Given the description of an element on the screen output the (x, y) to click on. 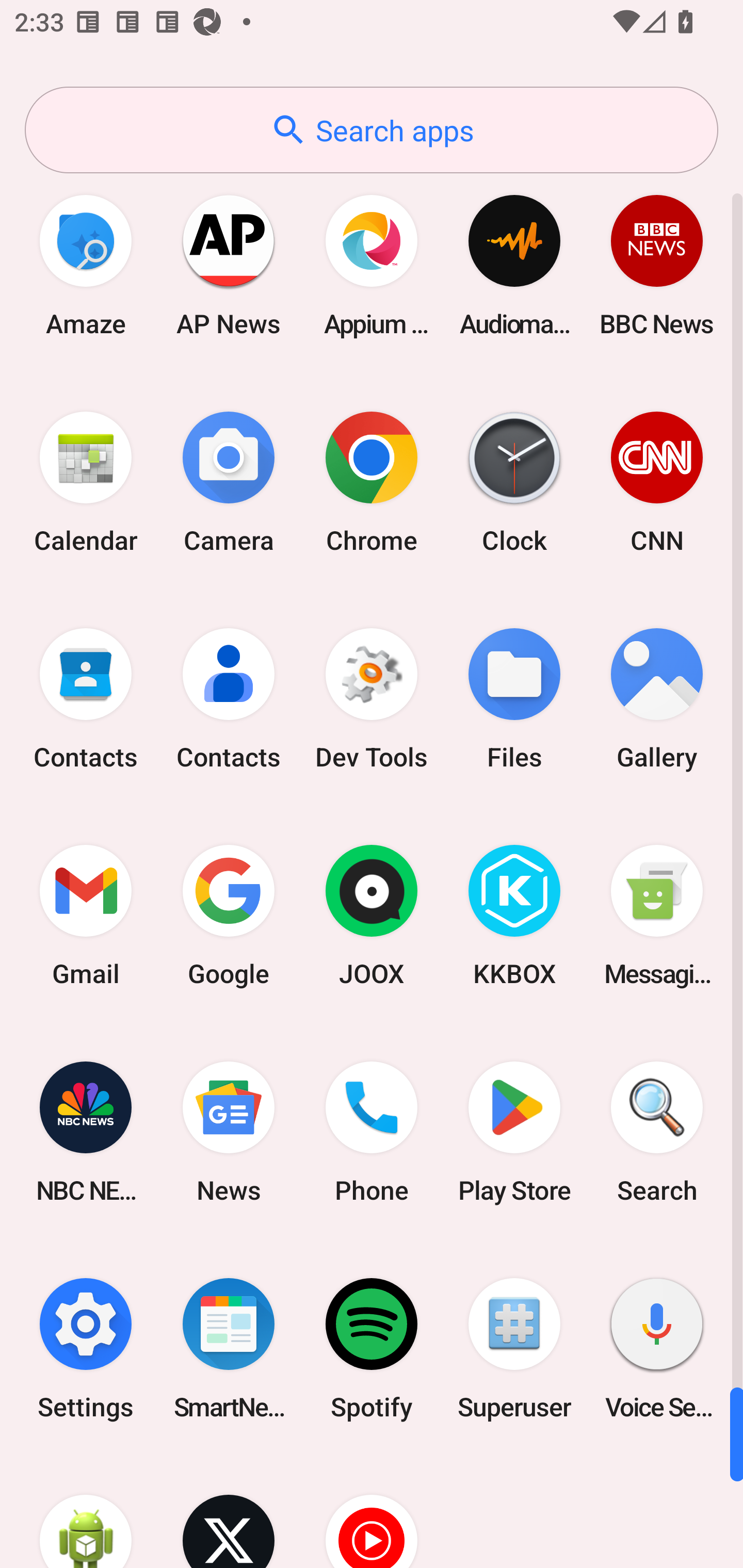
  Search apps (371, 130)
Amaze (85, 264)
AP News (228, 264)
Appium Settings (371, 264)
Audio­mack (514, 264)
BBC News (656, 264)
Calendar (85, 482)
Camera (228, 482)
Chrome (371, 482)
Clock (514, 482)
CNN (656, 482)
Contacts (85, 699)
Contacts (228, 699)
Dev Tools (371, 699)
Files (514, 699)
Gallery (656, 699)
Gmail (85, 915)
Google (228, 915)
JOOX (371, 915)
KKBOX (514, 915)
Messaging (656, 915)
NBC NEWS (85, 1131)
News (228, 1131)
Phone (371, 1131)
Play Store (514, 1131)
Search (656, 1131)
Settings (85, 1348)
SmartNews (228, 1348)
Spotify (371, 1348)
Superuser (514, 1348)
Voice Search (656, 1348)
WebView Browser Tester (85, 1512)
X (228, 1512)
YT Music (371, 1512)
